Given the description of an element on the screen output the (x, y) to click on. 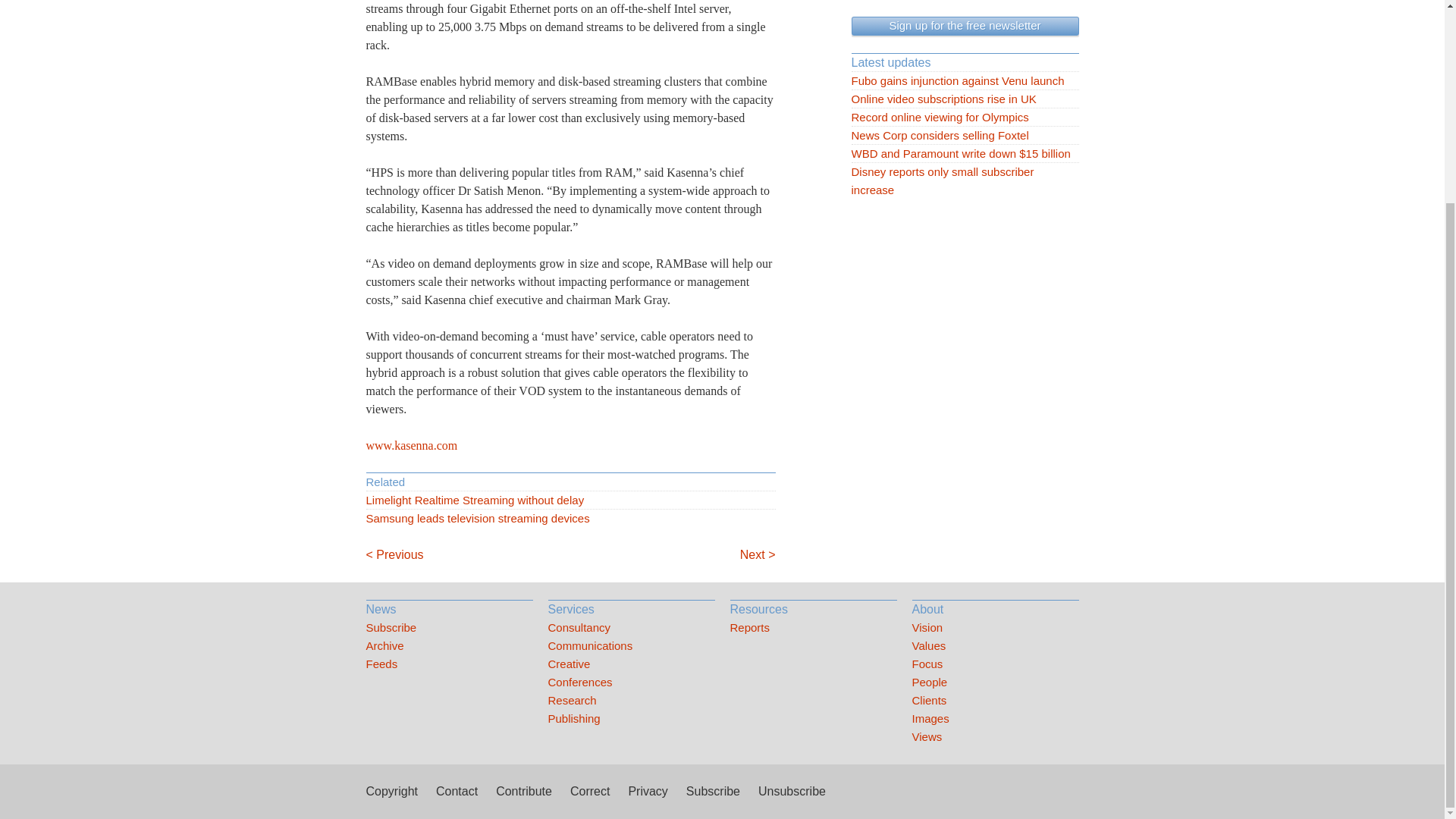
Disney reports only small subscriber increase (964, 180)
www.kasenna.com (411, 445)
News Corp considers selling Foxtel (964, 135)
Kasenna web site (411, 445)
Fubo gains injunction against Venu launch (964, 81)
Online video subscriptions rise in UK (964, 99)
Limelight Realtime Streaming without delay (569, 500)
Get the newsletter (964, 26)
Sign up for the free newsletter (964, 26)
Archive (448, 646)
